Given the description of an element on the screen output the (x, y) to click on. 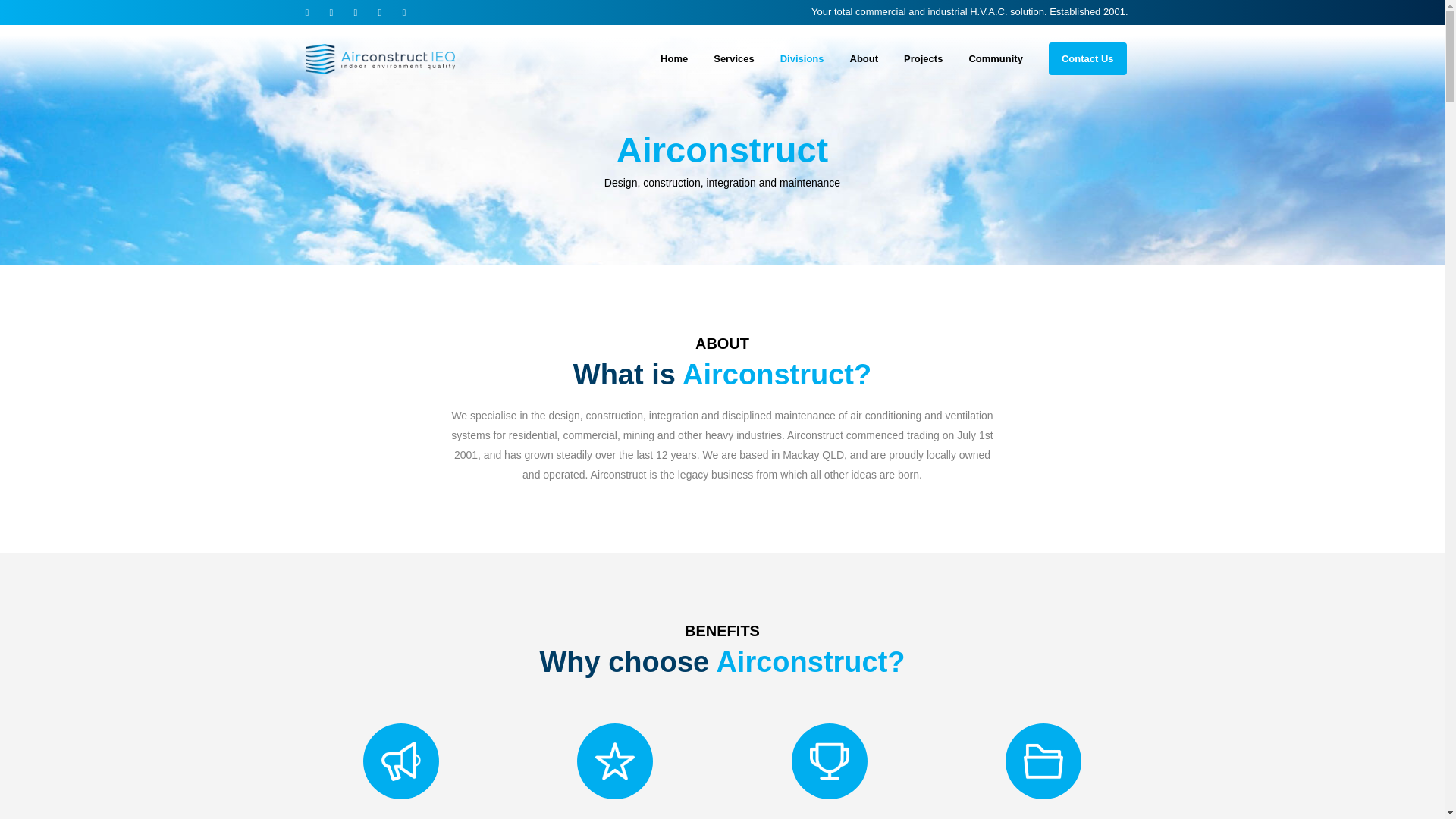
Projects (923, 59)
Contact Us (1087, 59)
Community (995, 59)
Services (733, 59)
Divisions (802, 59)
